Given the description of an element on the screen output the (x, y) to click on. 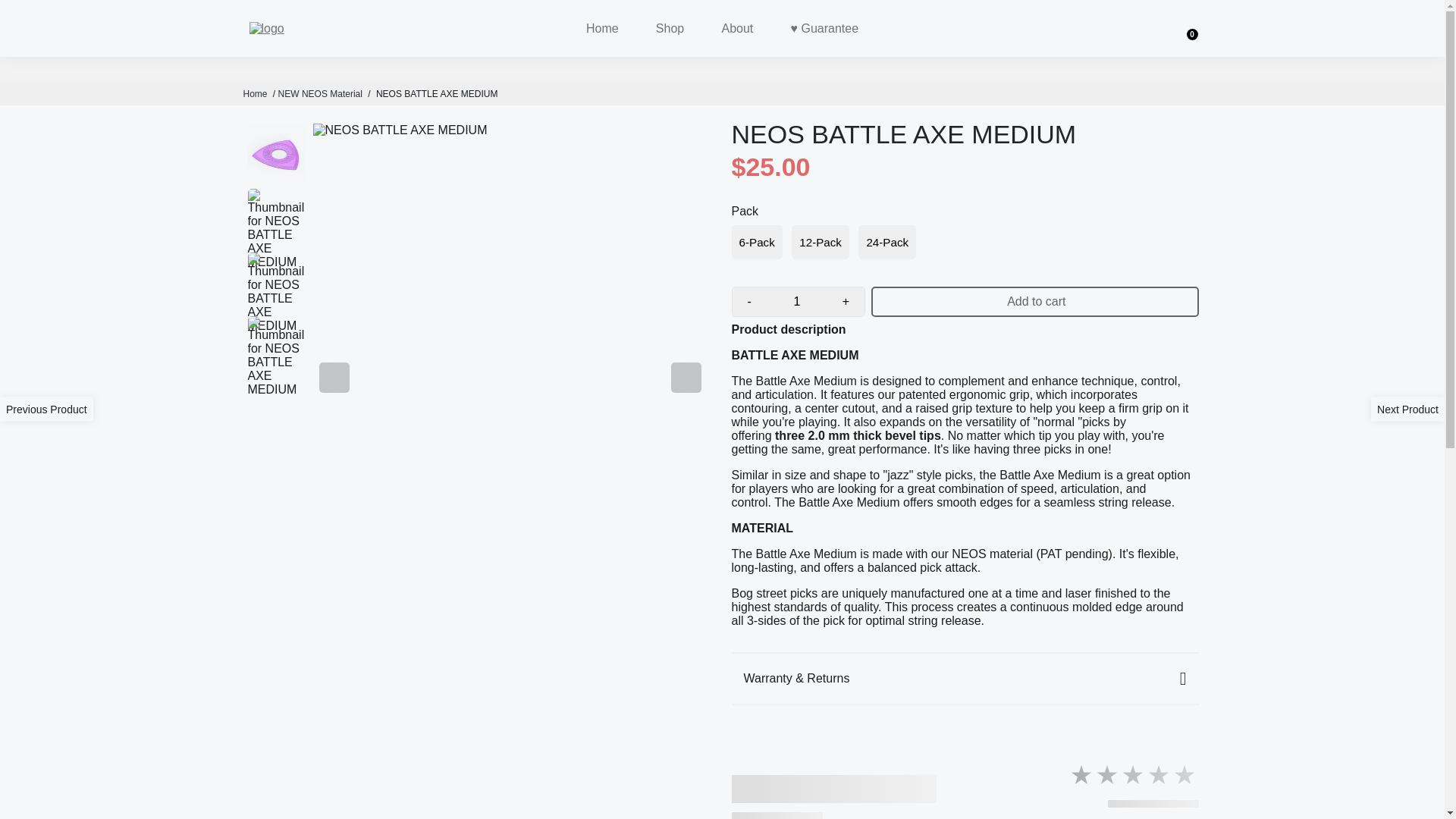
NEW NEOS Material (320, 93)
Home (601, 28)
Home (254, 93)
Home (254, 93)
Shop (669, 28)
About (737, 28)
1 (797, 301)
